Given the description of an element on the screen output the (x, y) to click on. 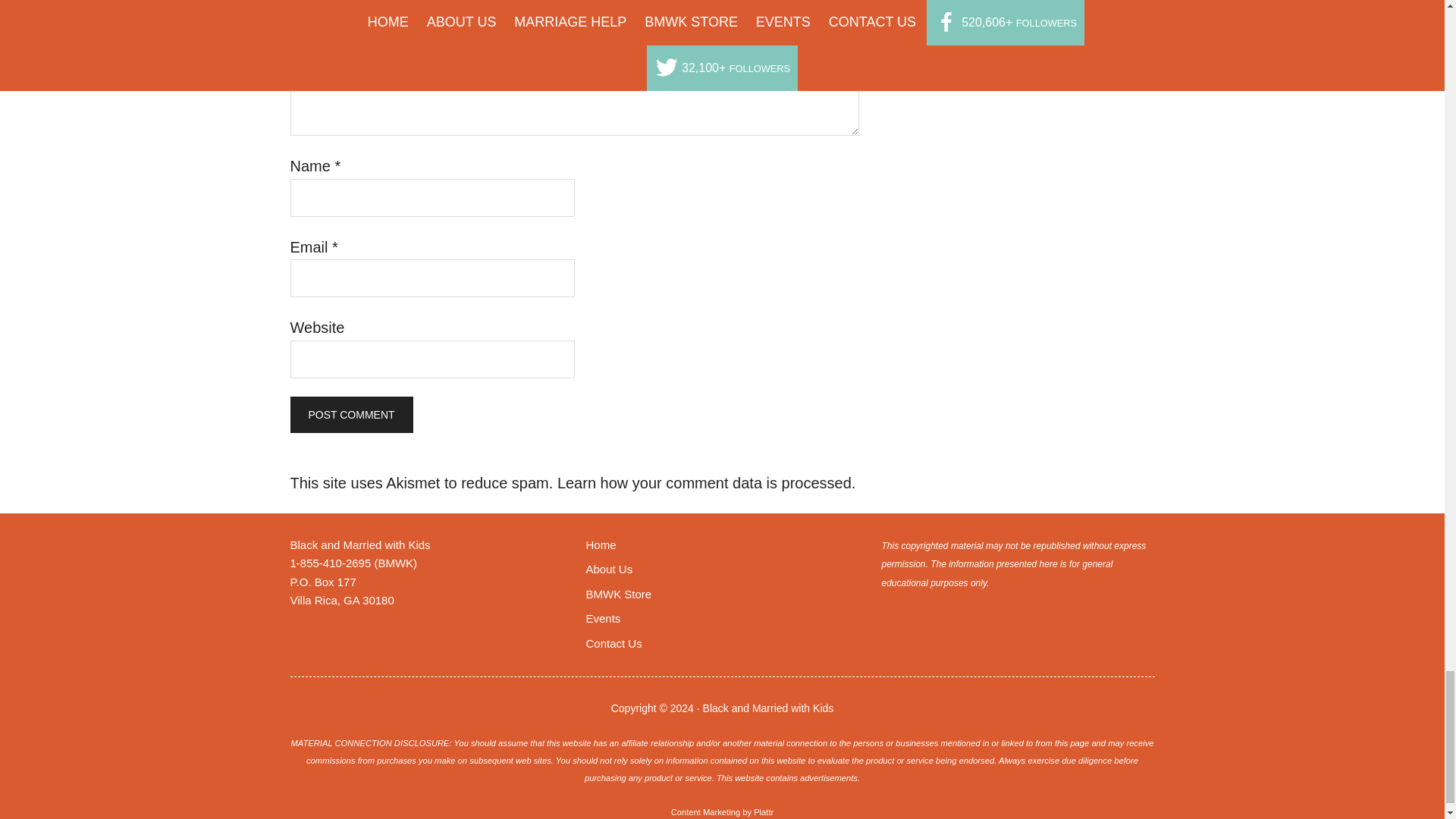
Post Comment (350, 413)
